Given the description of an element on the screen output the (x, y) to click on. 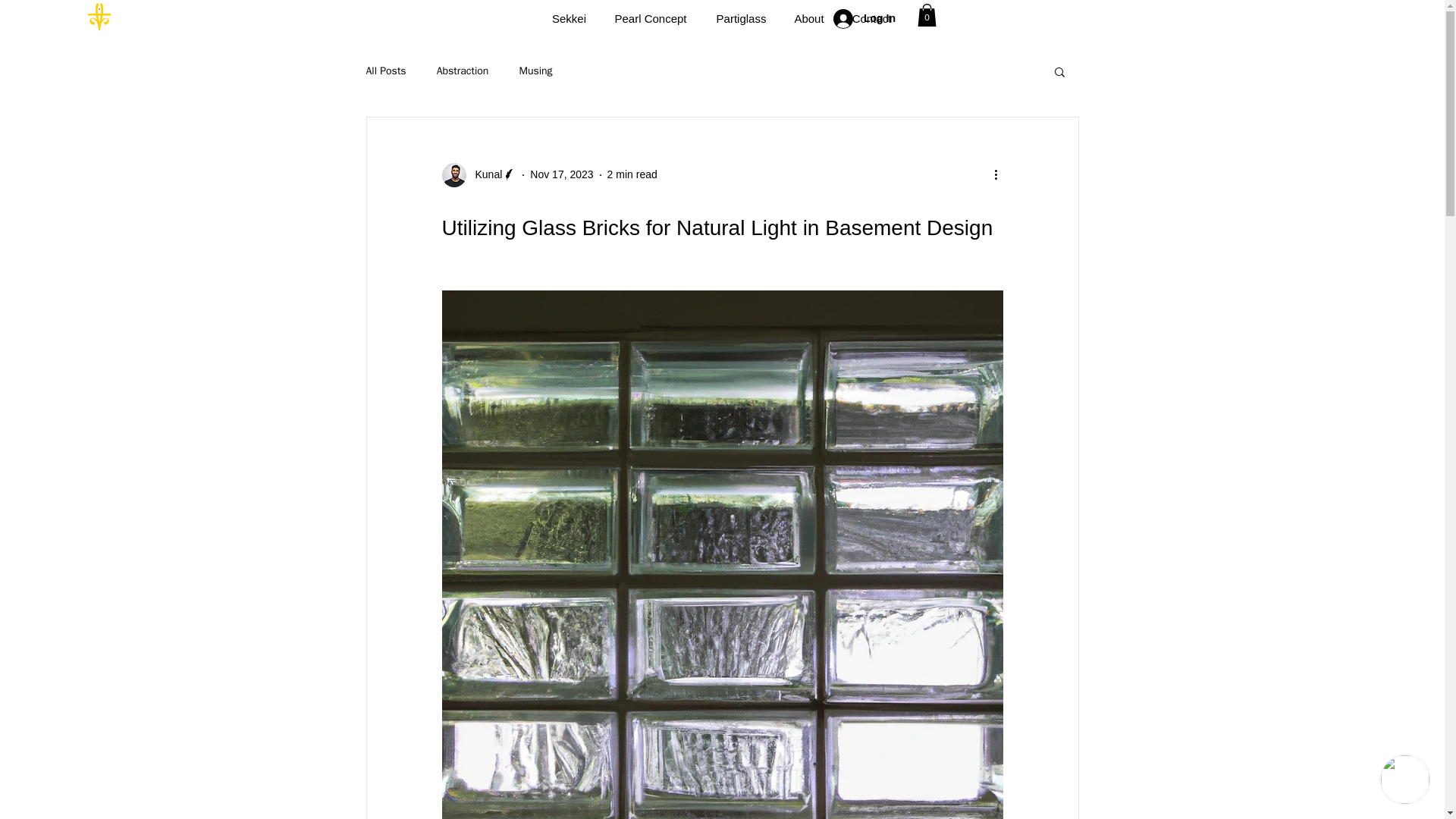
Contact (871, 18)
Musing (534, 70)
Nov 17, 2023 (560, 174)
Sekkei (568, 18)
2 min read (632, 174)
Abstraction (462, 70)
Kunal (483, 174)
Log In (863, 18)
All Posts (385, 70)
Kunal (478, 174)
